Given the description of an element on the screen output the (x, y) to click on. 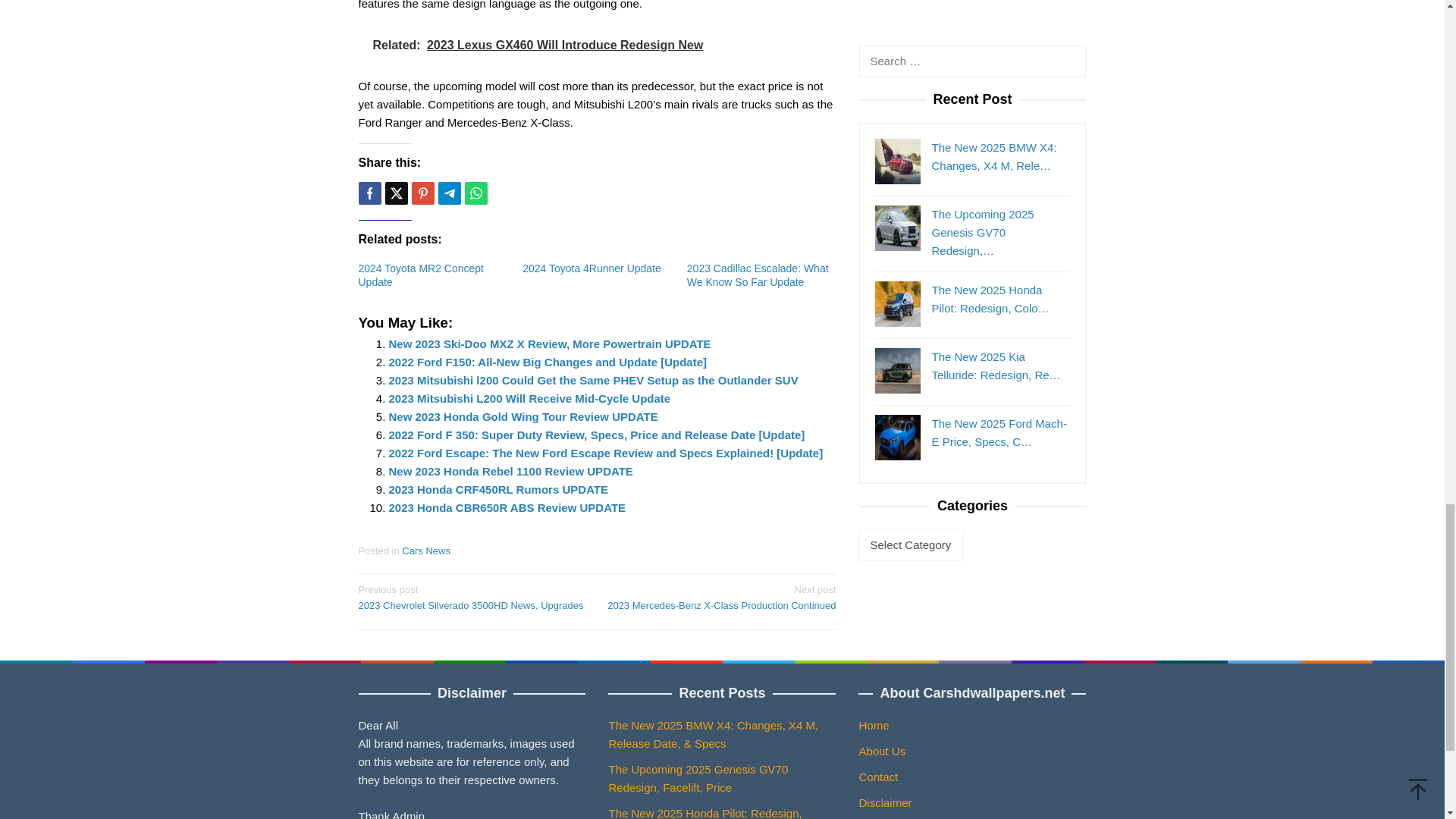
Telegram Share (449, 192)
Share this (369, 192)
Tweet this (396, 192)
Whatsapp (475, 192)
Pin this (421, 192)
